Given the description of an element on the screen output the (x, y) to click on. 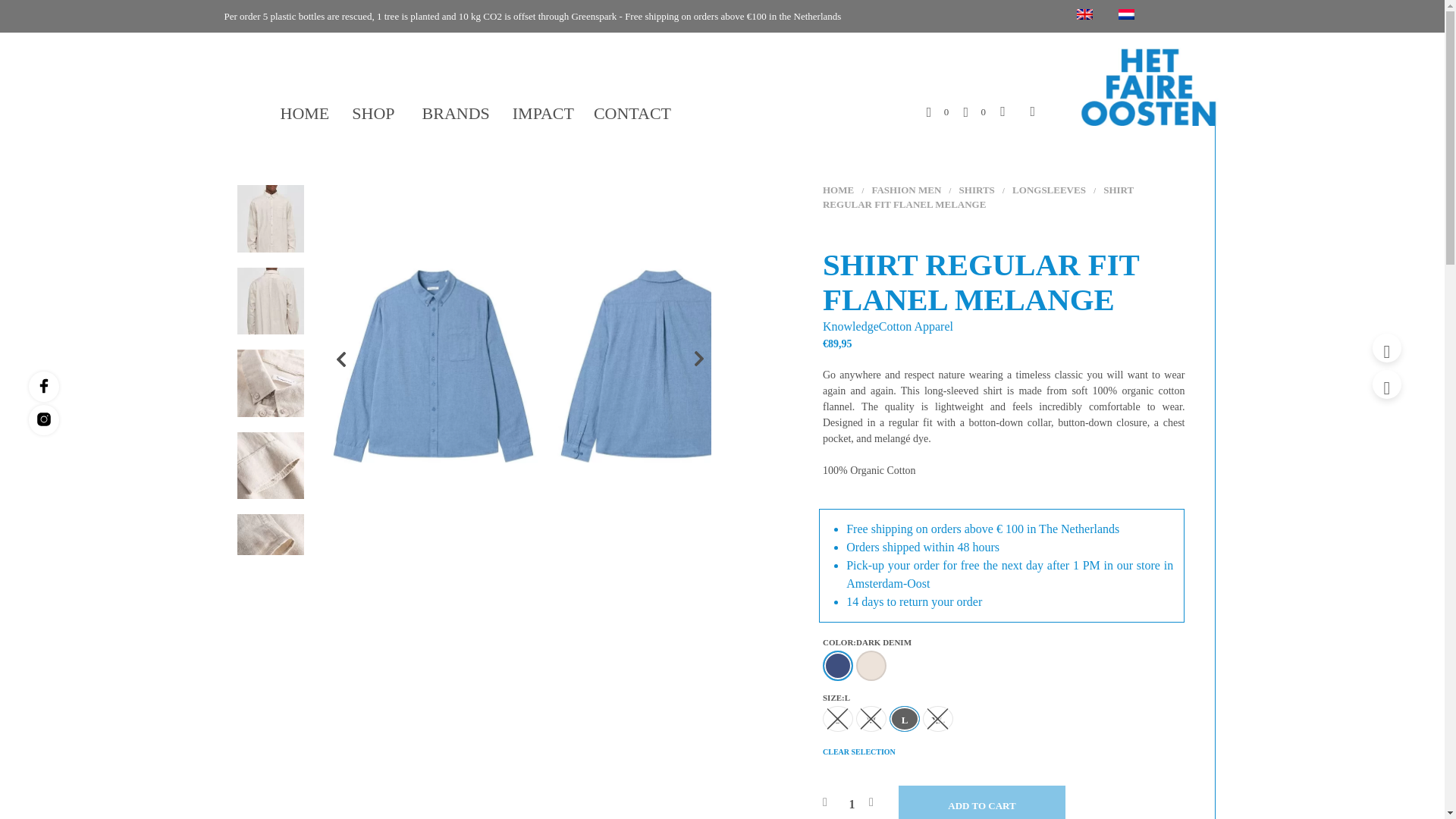
1 (851, 802)
House Of Impact (1144, 86)
HOME (305, 113)
0 (973, 111)
SHOP (374, 113)
0 (937, 111)
Dark Denim (837, 665)
